Given the description of an element on the screen output the (x, y) to click on. 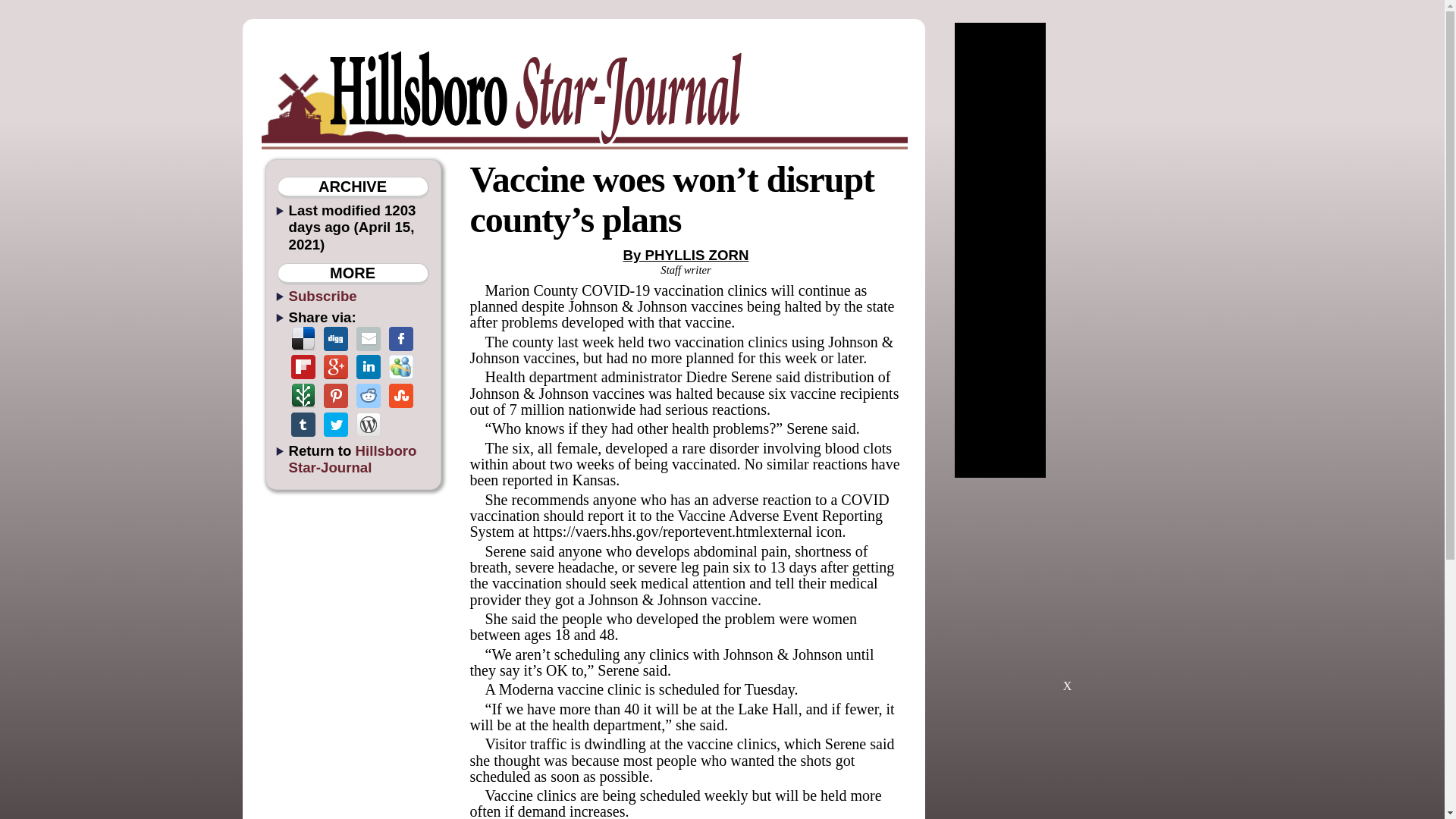
Advertisement (1067, 591)
Subscribe (322, 295)
Hillsboro Star-Journal (352, 459)
